Given the description of an element on the screen output the (x, y) to click on. 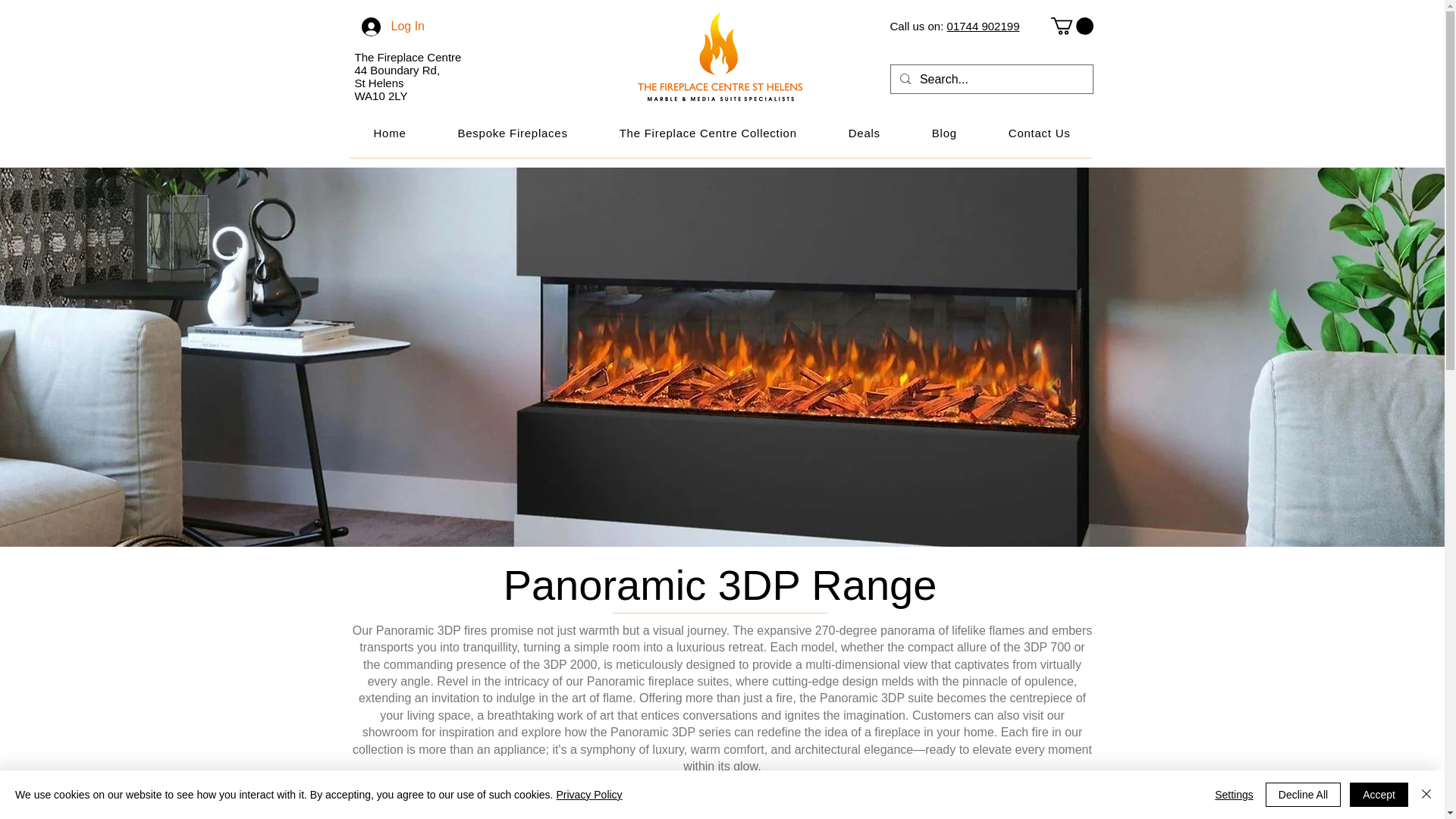
Log In (389, 26)
Deals (863, 132)
Contact Us (1039, 132)
Blog (943, 132)
Home (389, 132)
Call us on: 01744 902199 (954, 25)
